Given the description of an element on the screen output the (x, y) to click on. 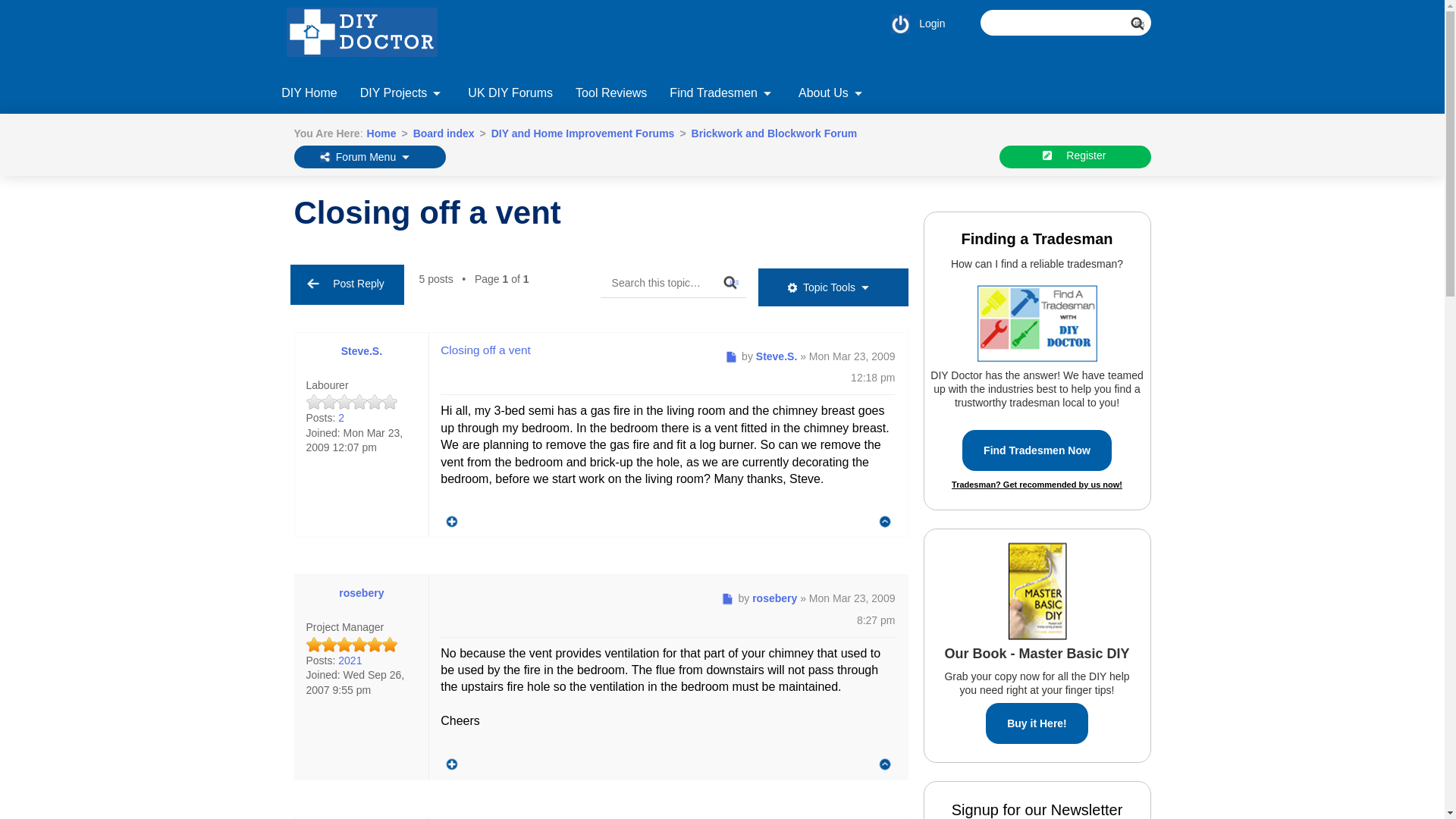
Search (1143, 30)
Search for keywords (1064, 22)
DIY Home (309, 94)
DIY Home (309, 88)
DIY Doctor DIY help and advice (309, 88)
UK DIY Forums (510, 88)
Find Tradesmen (722, 88)
Tool Reviews (611, 88)
DIY Doctor company logo (369, 36)
UK DIY Forums (510, 94)
